Given the description of an element on the screen output the (x, y) to click on. 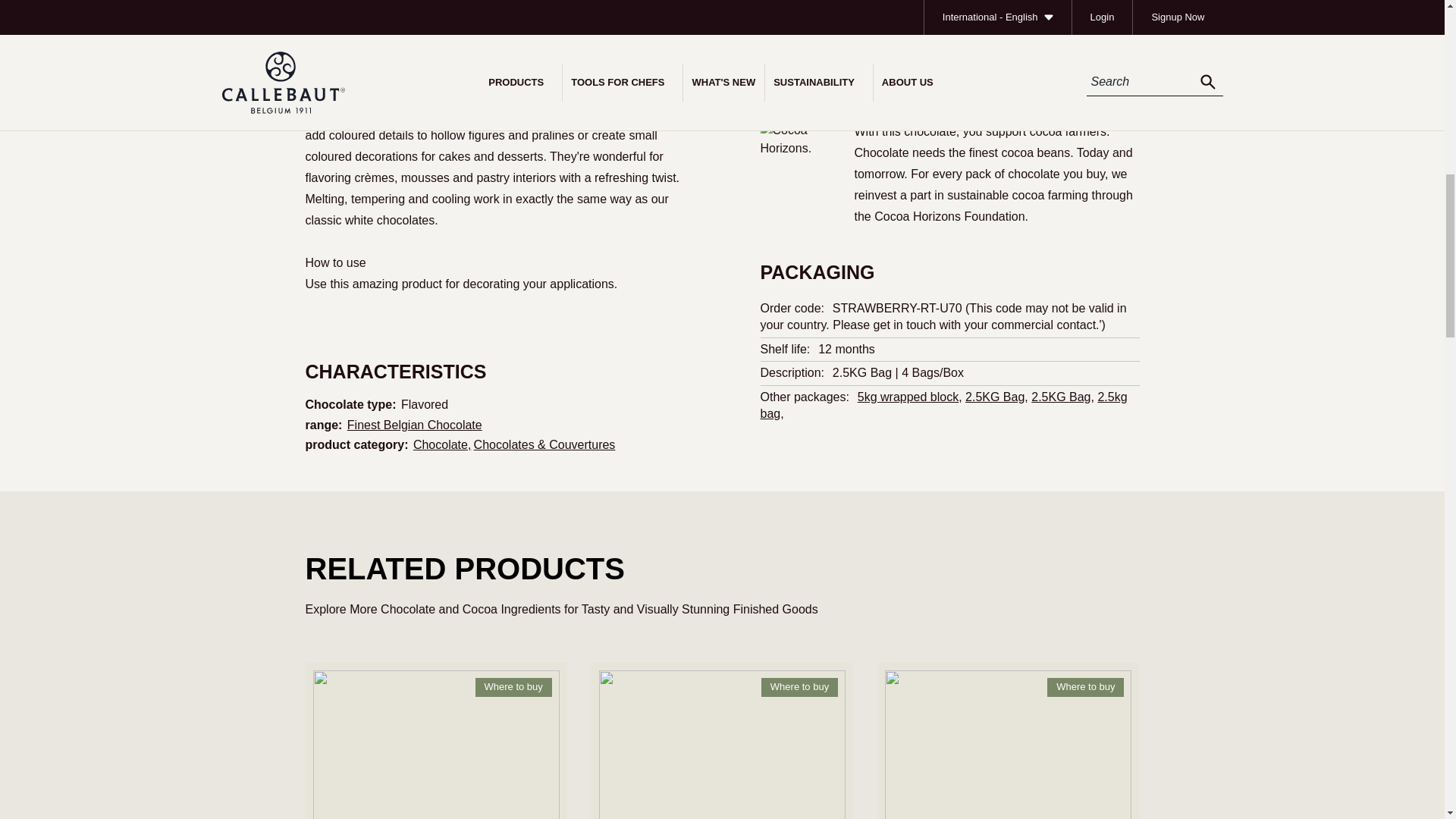
2.5KG Bag (995, 396)
Chocolate (443, 444)
5kg wrapped block (907, 396)
Finest Belgian Chocolate (414, 424)
